Given the description of an element on the screen output the (x, y) to click on. 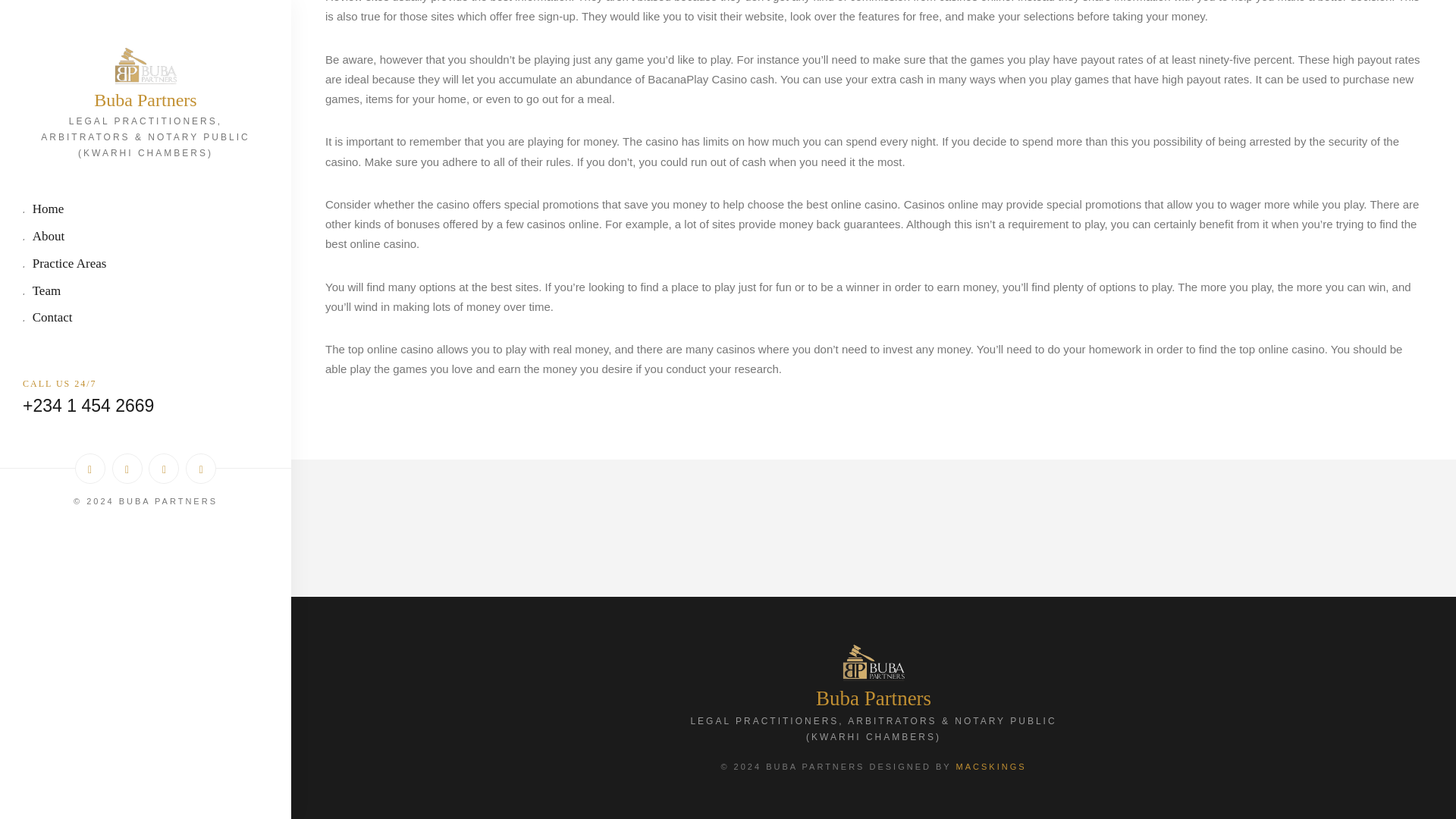
MACSKINGS (991, 766)
BacanaPlay Casino (696, 79)
